Given the description of an element on the screen output the (x, y) to click on. 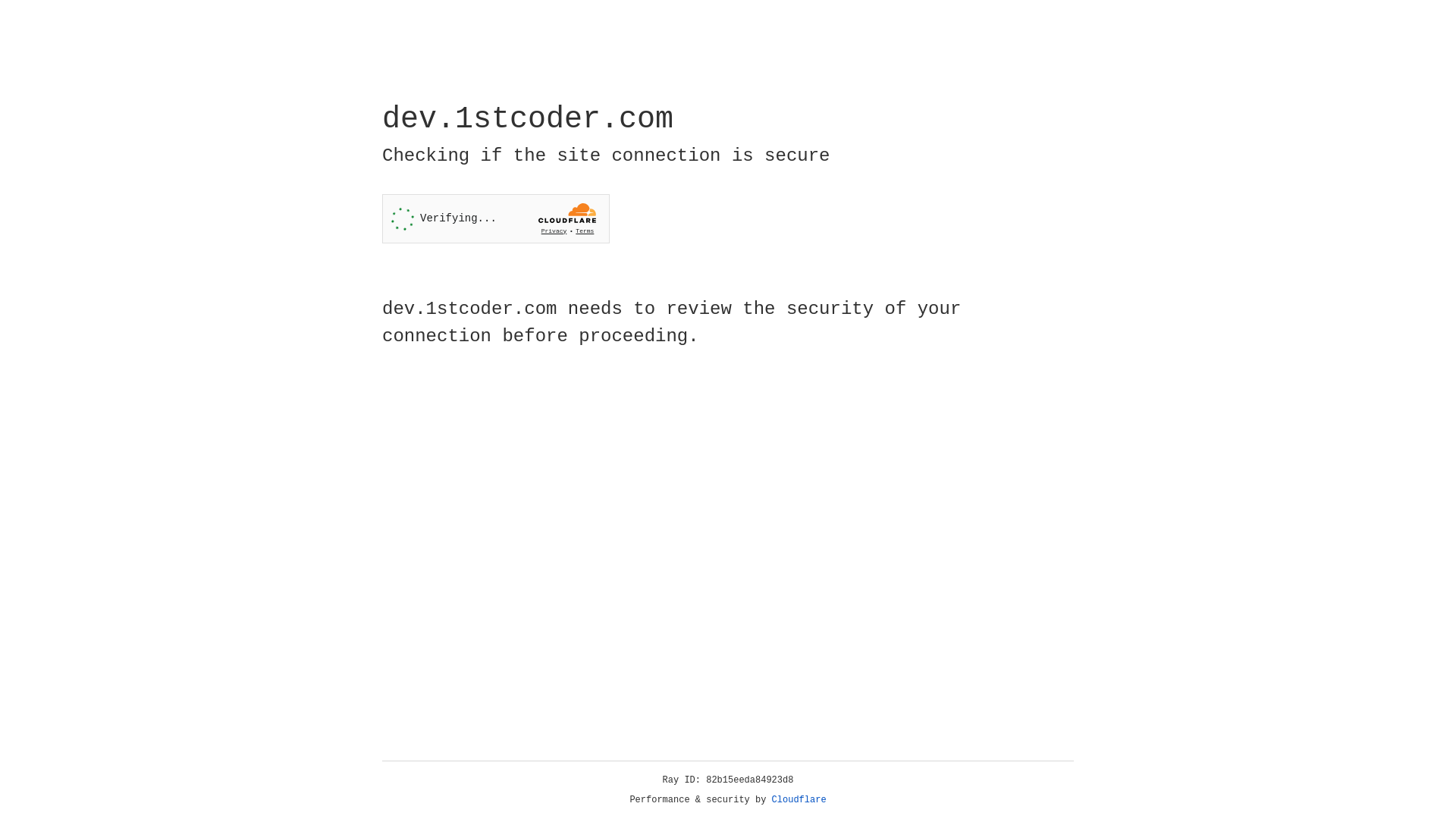
Widget containing a Cloudflare security challenge Element type: hover (495, 218)
Cloudflare Element type: text (798, 799)
